Given the description of an element on the screen output the (x, y) to click on. 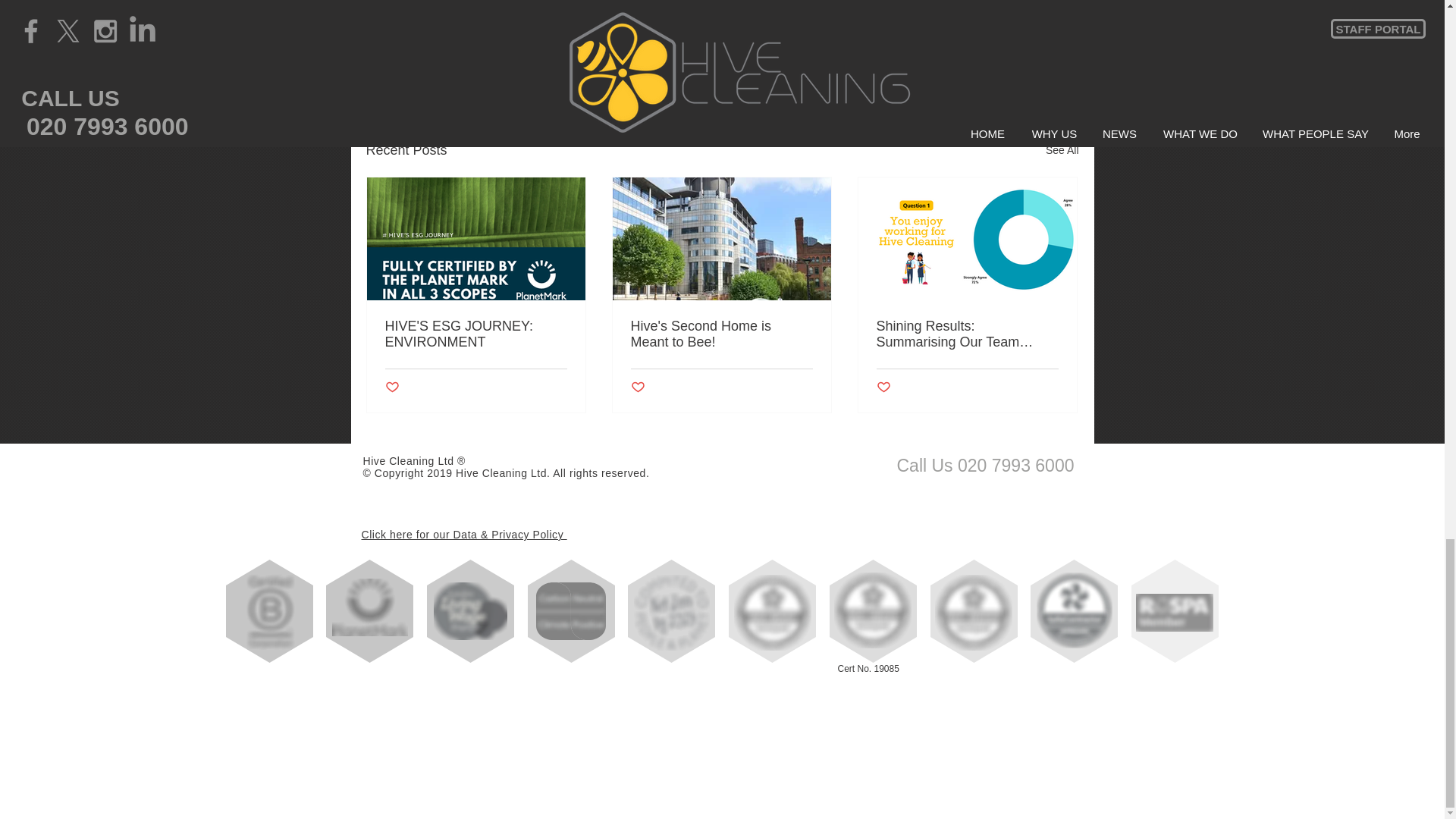
Shining Results: Summarising Our Team Survey (967, 334)
Post not marked as liked (637, 387)
HIVE'S ESG JOURNEY: ENVIRONMENT (476, 334)
Post not marked as liked (391, 387)
Post not marked as liked (995, 67)
See All (1061, 150)
Hive's Second Home is Meant to Bee! (721, 334)
